Given the description of an element on the screen output the (x, y) to click on. 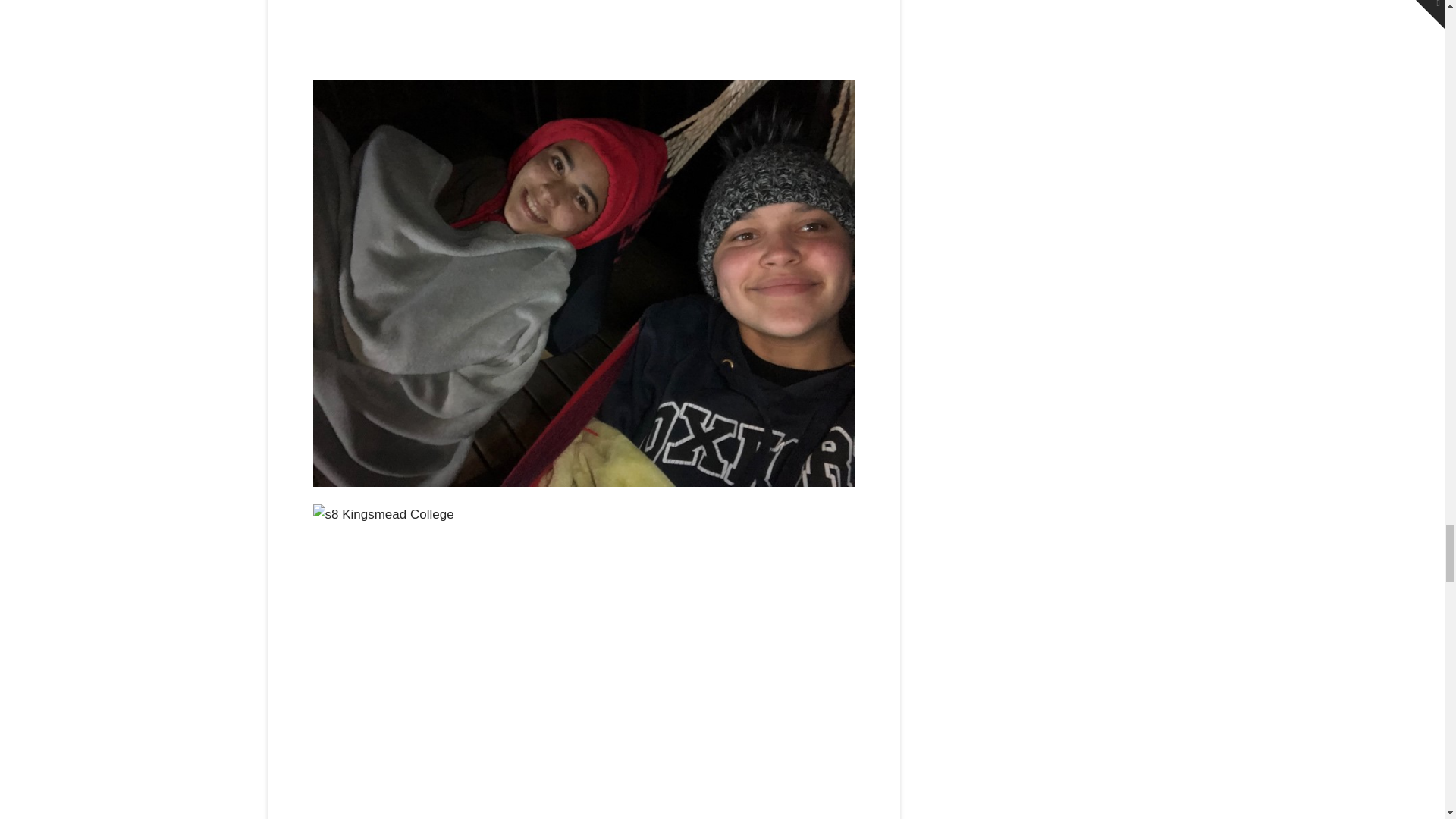
Kingsmead Newsletter July 2020 24 Kingsmead College (583, 31)
